Given the description of an element on the screen output the (x, y) to click on. 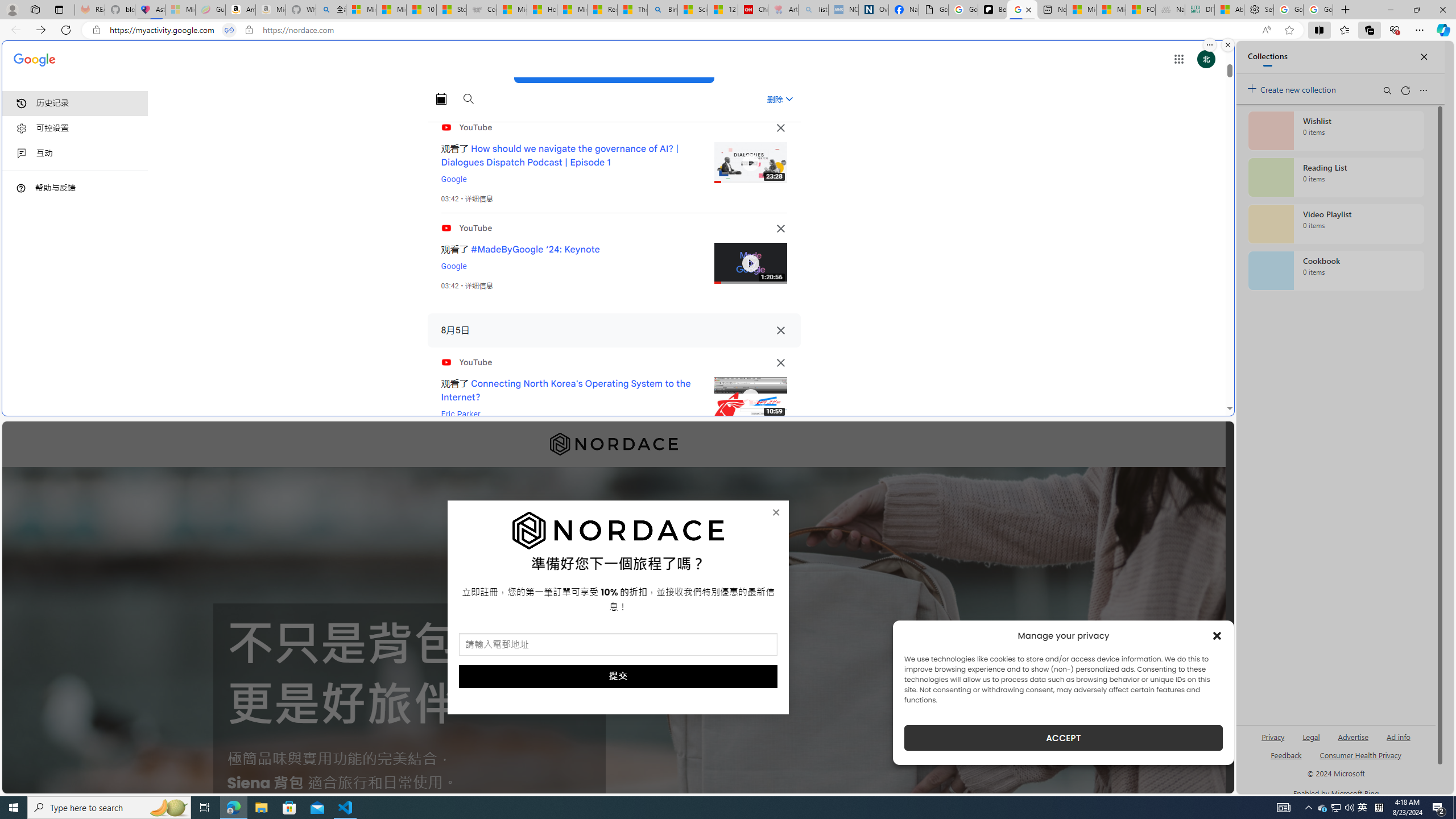
Class: cmplz-close (1217, 635)
Class: i2GIId (21, 153)
Class: gb_E (1178, 59)
